Given the description of an element on the screen output the (x, y) to click on. 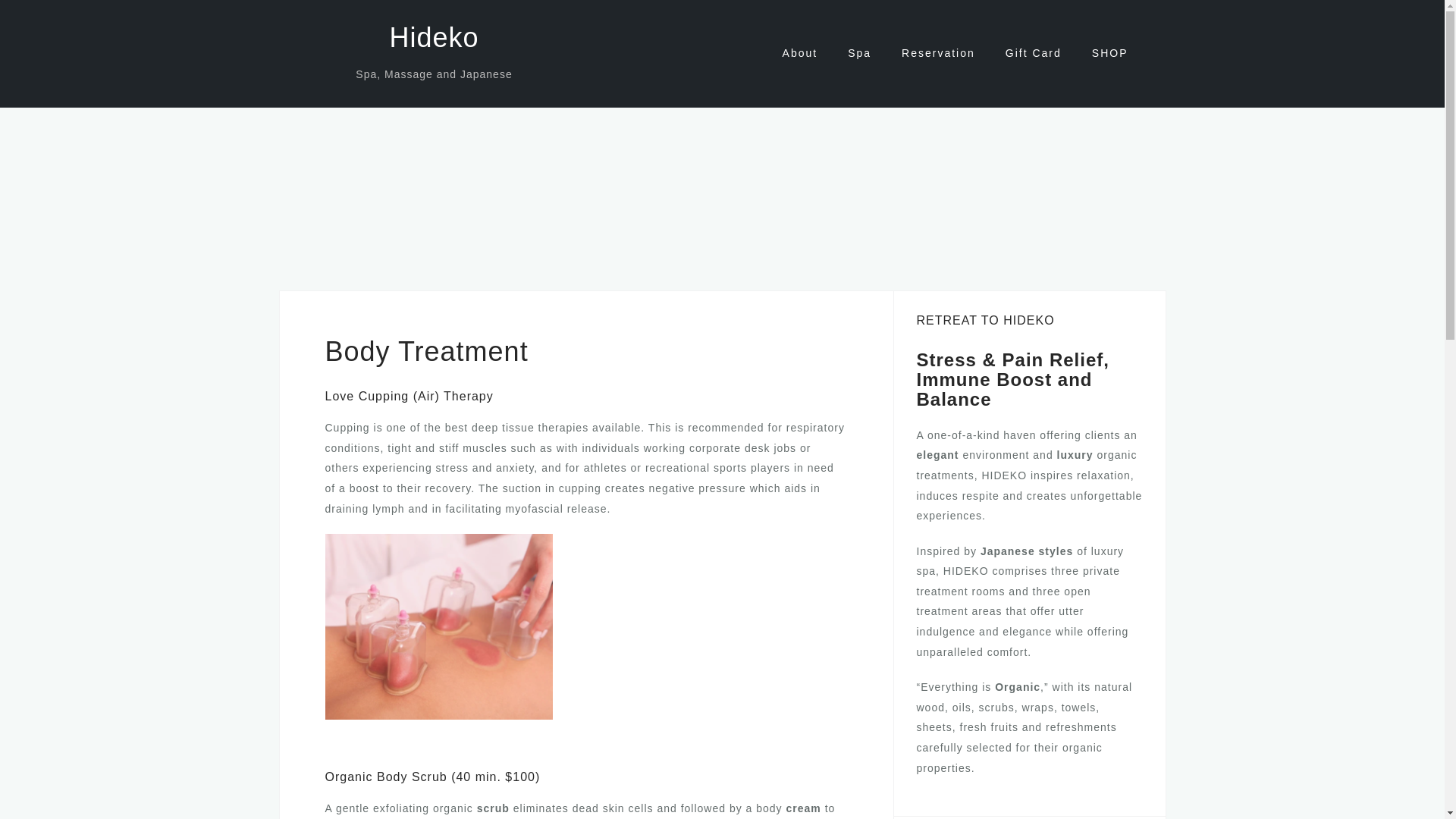
SHOP (1110, 53)
Gift Card (1033, 53)
About (800, 53)
Hideko (433, 37)
Reservation (938, 53)
Spa (858, 53)
